Given the description of an element on the screen output the (x, y) to click on. 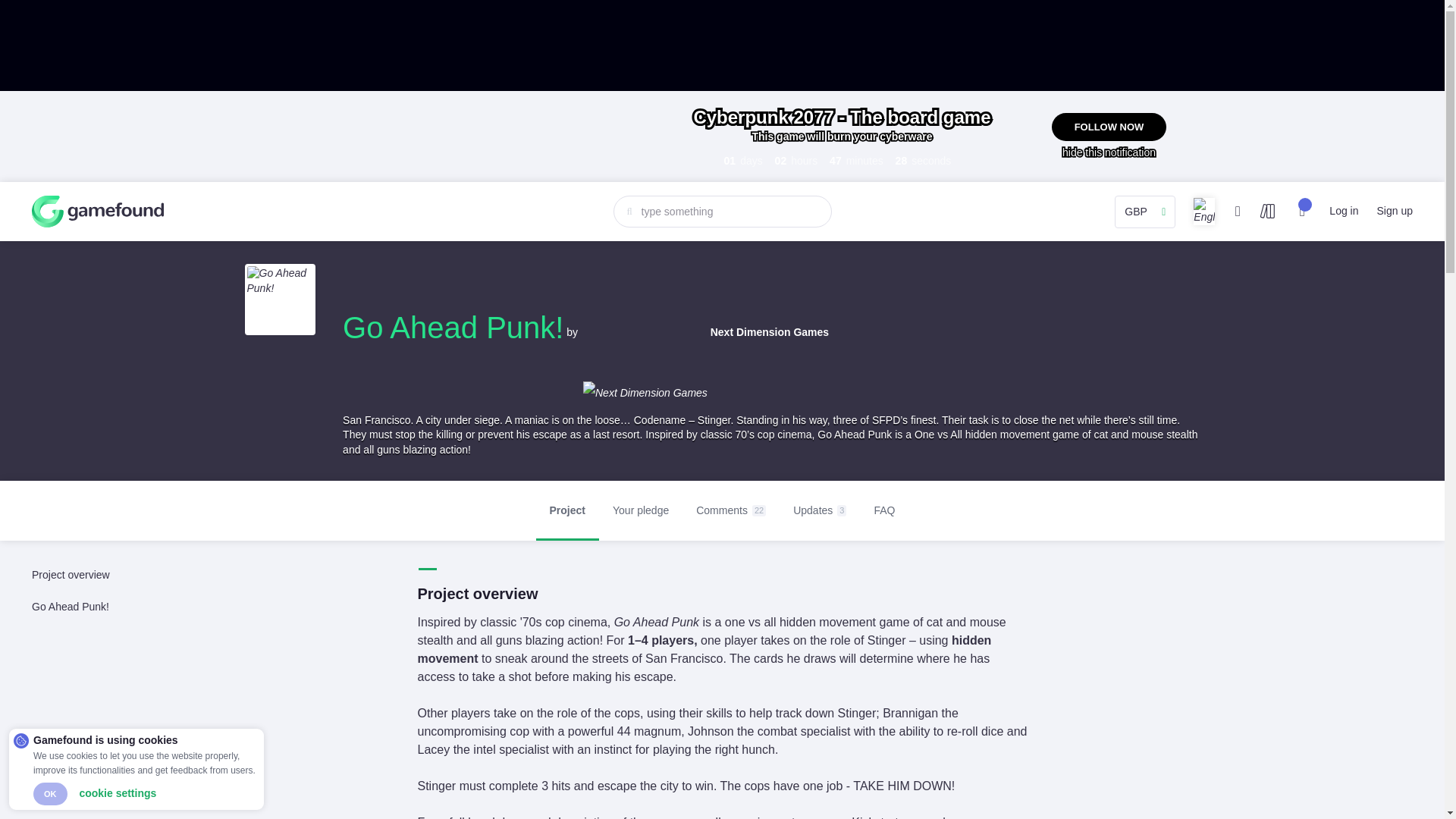
Gamefound (97, 210)
Project overview (138, 579)
Go Ahead Punk! (138, 601)
Sign up (1395, 210)
Project (566, 510)
Next Dimension Games (704, 331)
Go Ahead Punk! (452, 327)
Your pledge (722, 510)
